Given the description of an element on the screen output the (x, y) to click on. 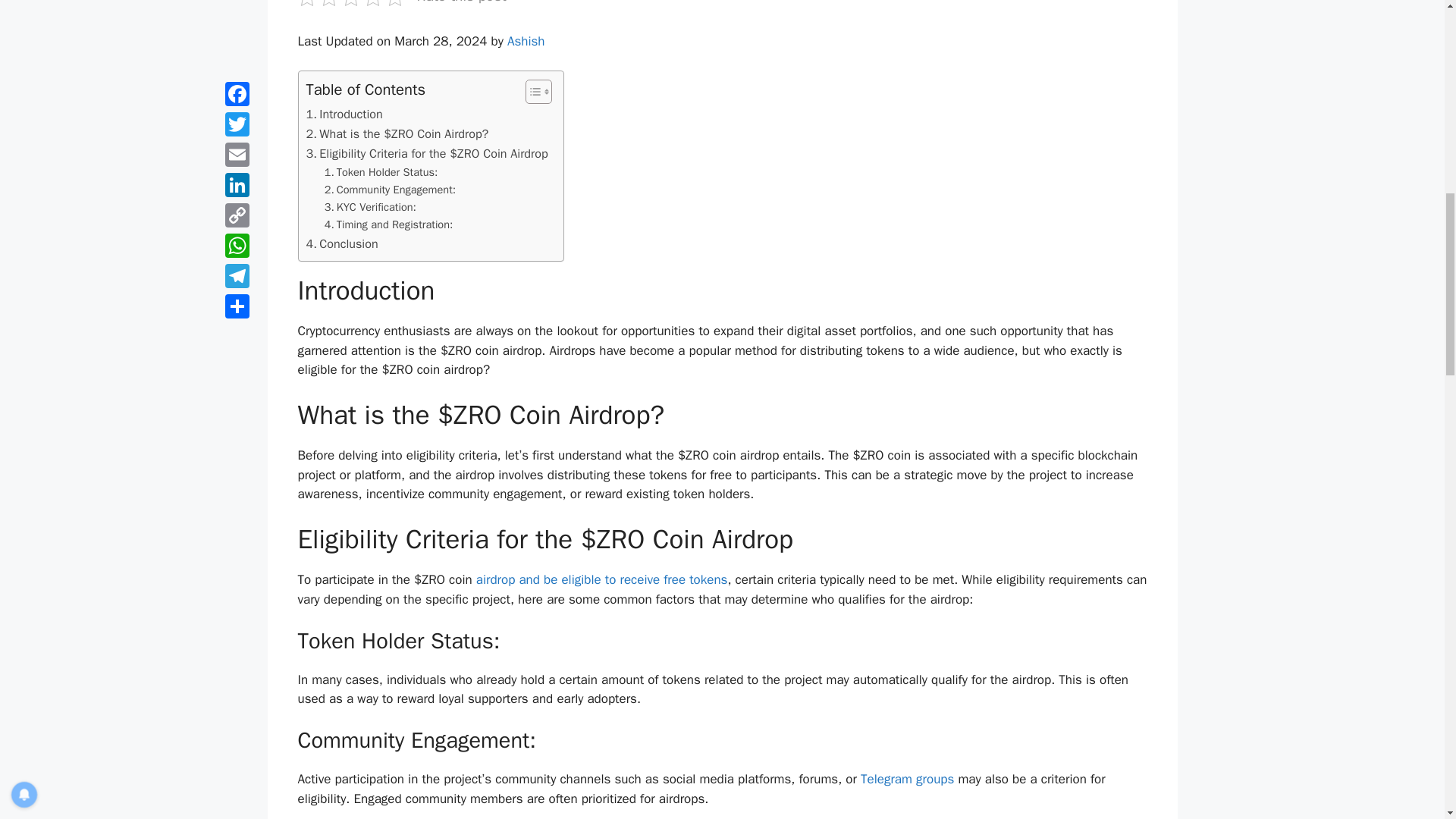
Token Holder Status:  (381, 171)
Community Engagement:  (389, 189)
Introduction (343, 114)
Community Engagement: (389, 189)
Token Holder Status: (381, 171)
Introduction (343, 114)
airdrop and be eligible to receive free tokens (602, 579)
Ashish (525, 41)
Conclusion (341, 243)
Timing and Registration: (388, 224)
Timing and Registration:  (388, 224)
KYC Verification: (370, 207)
Telegram groups (906, 779)
KYC Verification:  (370, 207)
